Given the description of an element on the screen output the (x, y) to click on. 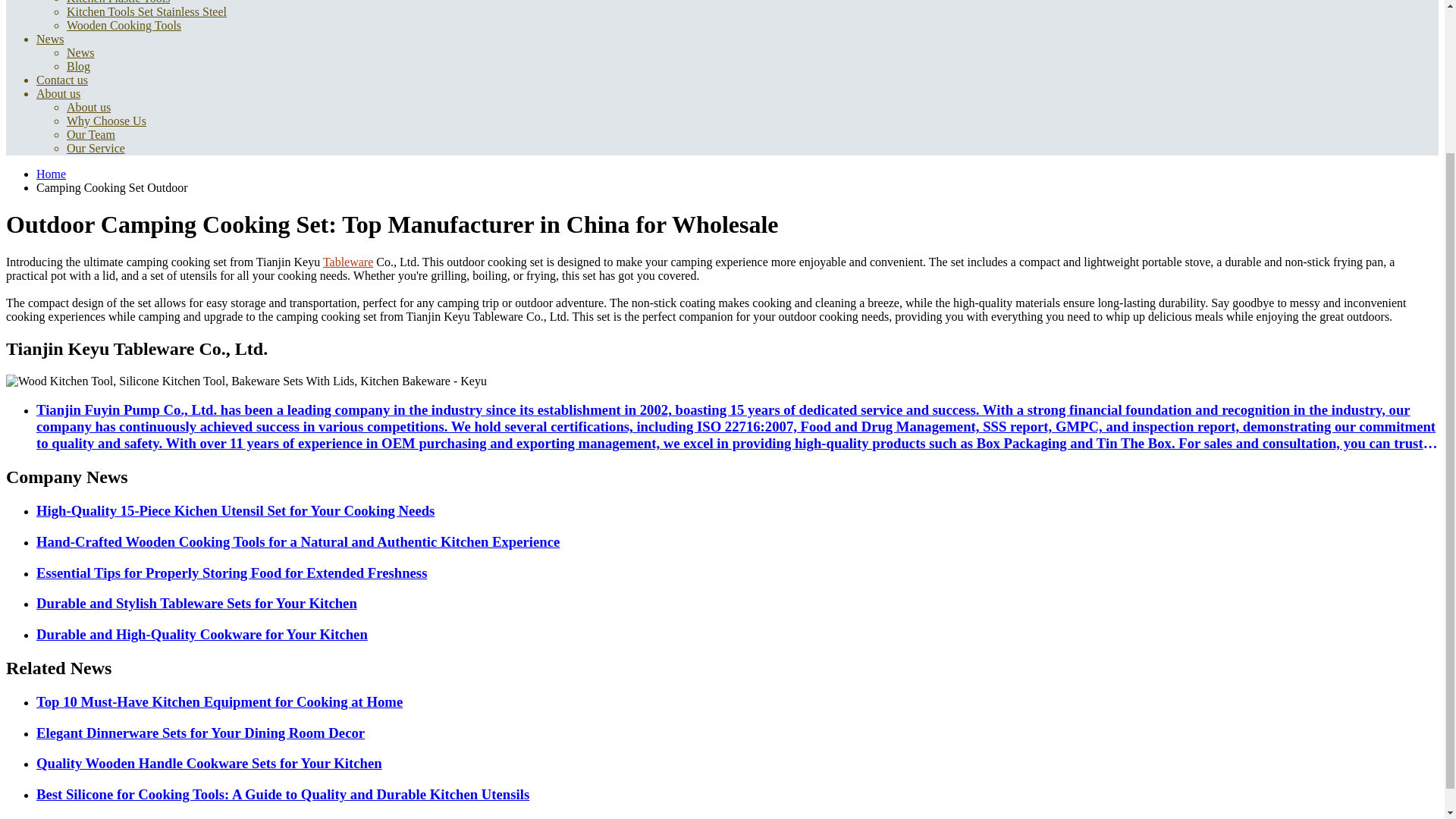
Tableware (347, 261)
News (80, 51)
Contact us (61, 79)
About us (88, 106)
News (50, 38)
Why Choose Us (106, 120)
Our Team (90, 133)
Home (50, 173)
Wooden Cooking Tools (123, 24)
About us (58, 92)
Kitchen Plastic Tools (118, 2)
Blog (78, 65)
Our Service (95, 147)
Kitchen Tools Set Stainless Steel (146, 11)
